Given the description of an element on the screen output the (x, y) to click on. 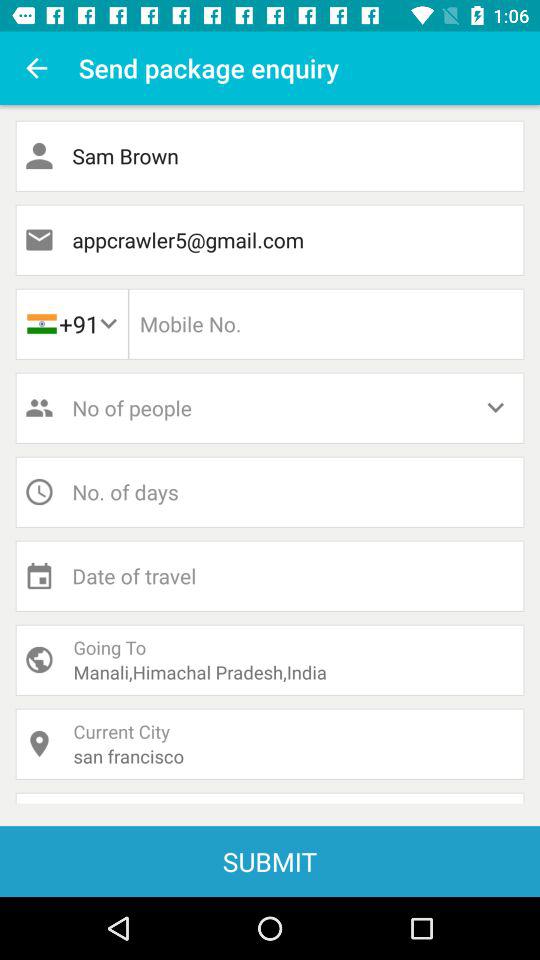
go to previous (36, 68)
